Given the description of an element on the screen output the (x, y) to click on. 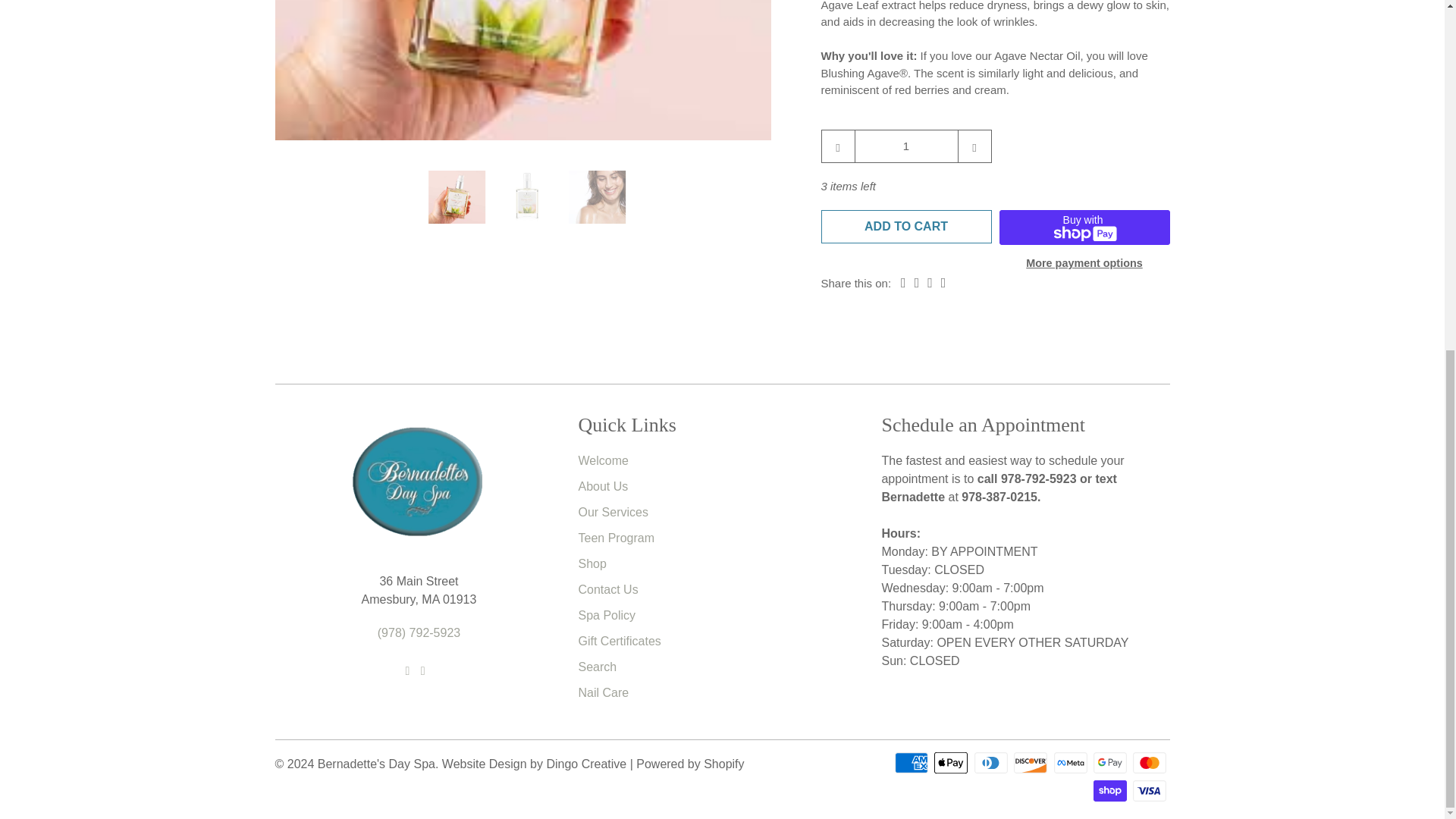
Visa (1150, 790)
Discover (1031, 762)
Shop Pay (1111, 790)
American Express (913, 762)
1 (905, 145)
Google Pay (1111, 762)
Meta Pay (1072, 762)
Apple Pay (952, 762)
FarmHouse Fresh Blushing Agave Body Oil (523, 70)
Diners Club (992, 762)
